Given the description of an element on the screen output the (x, y) to click on. 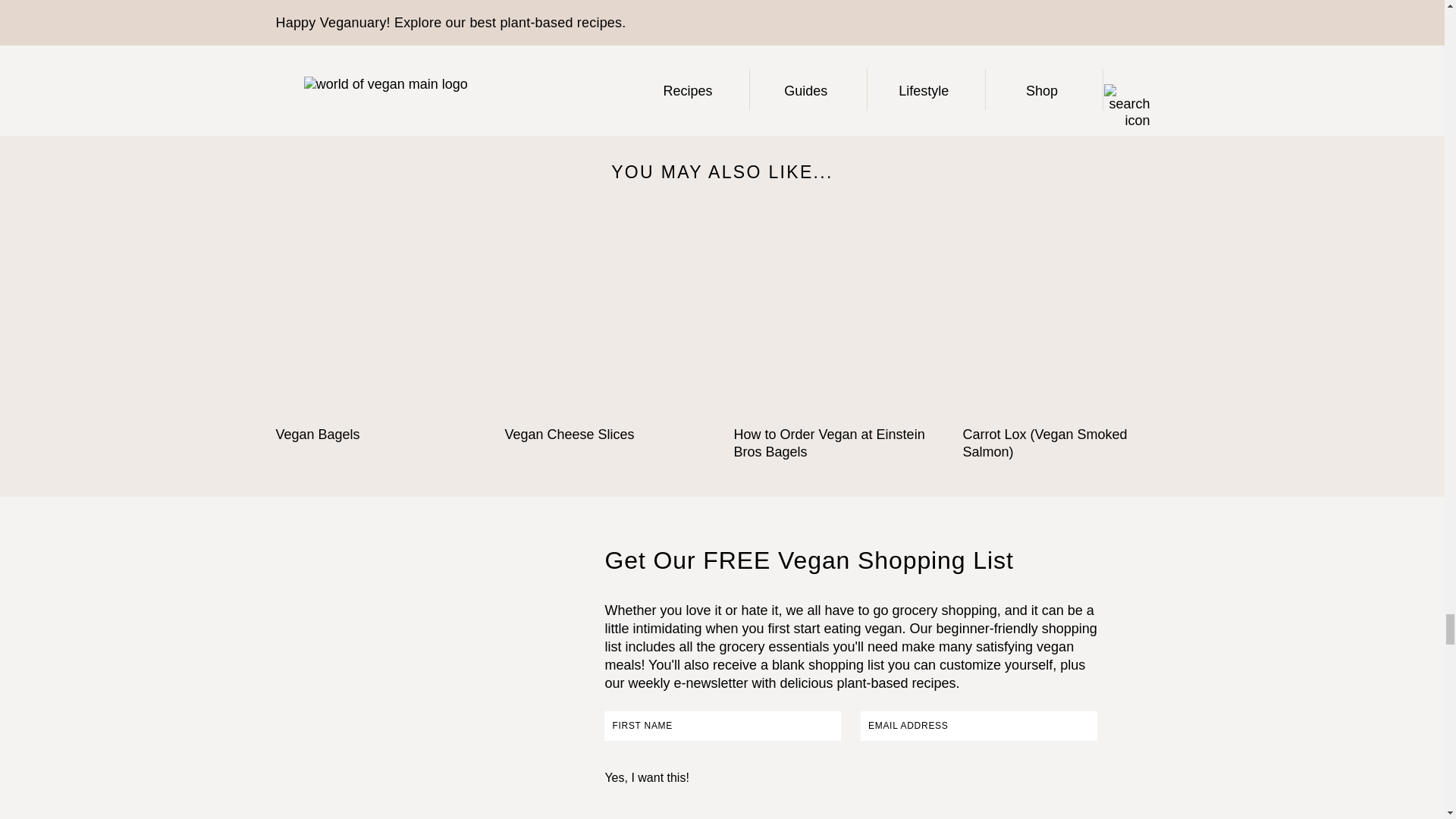
Vegan Bagels (378, 318)
How to Order Vegan at Einstein Bros Bagels (836, 318)
Vegan Cheese Slices (608, 318)
